Given the description of an element on the screen output the (x, y) to click on. 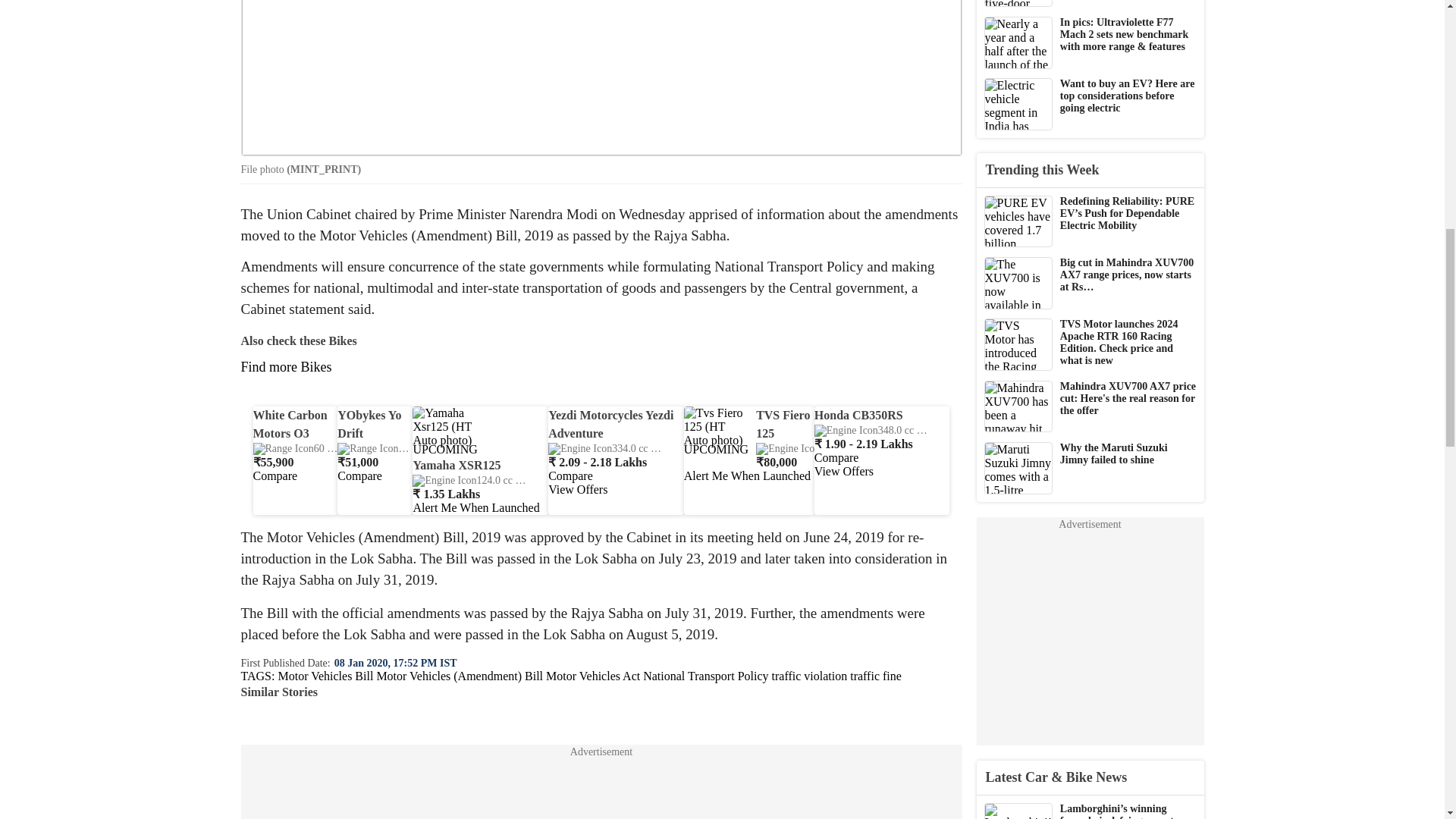
Range (397, 448)
Mileage (705, 448)
Engine (799, 448)
Engine (462, 480)
Engine (597, 448)
Mileage (972, 430)
Range (312, 448)
Mileage (570, 480)
Engine (863, 430)
